Given the description of an element on the screen output the (x, y) to click on. 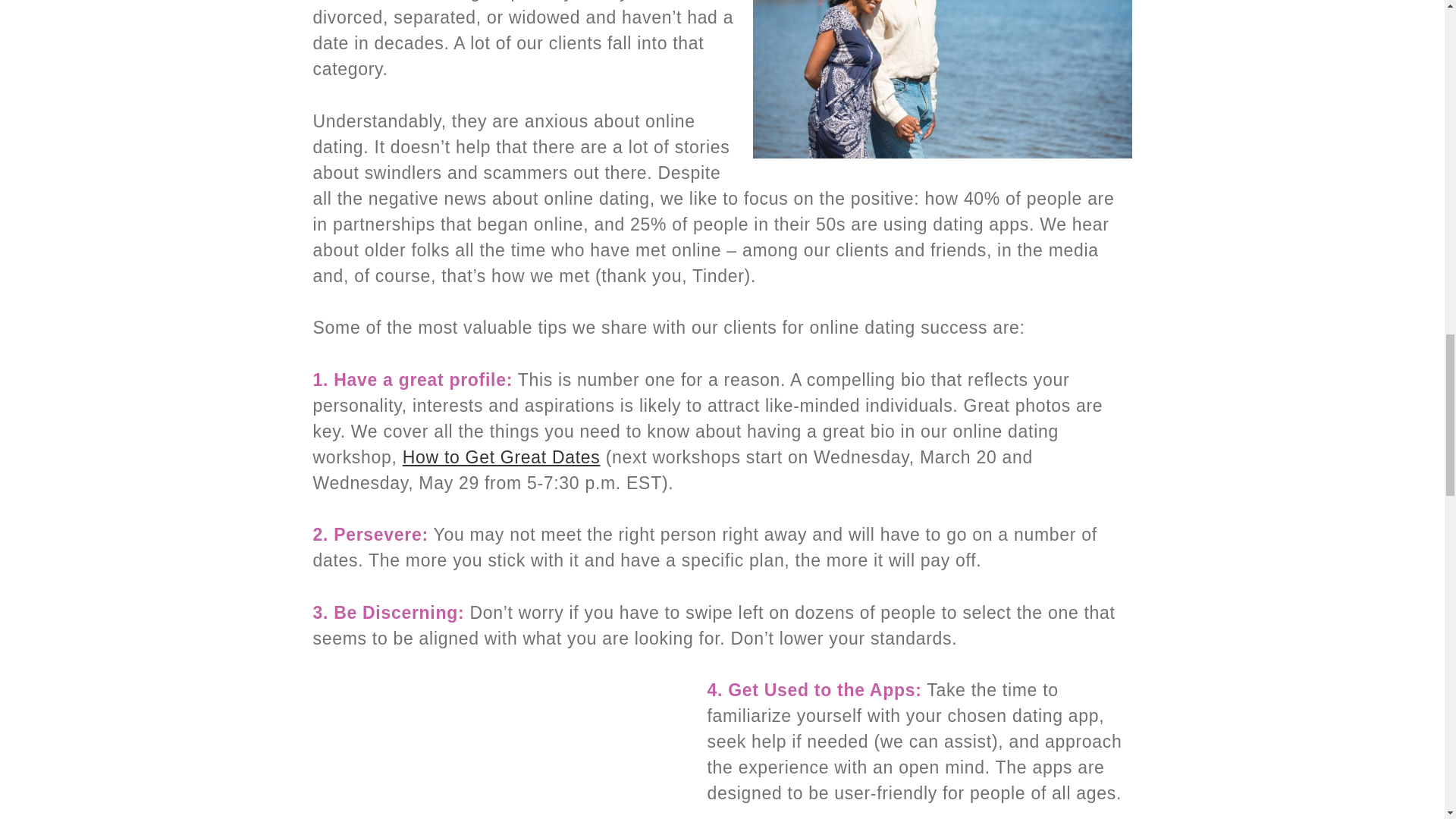
How to Get Great Dates (501, 456)
